Given the description of an element on the screen output the (x, y) to click on. 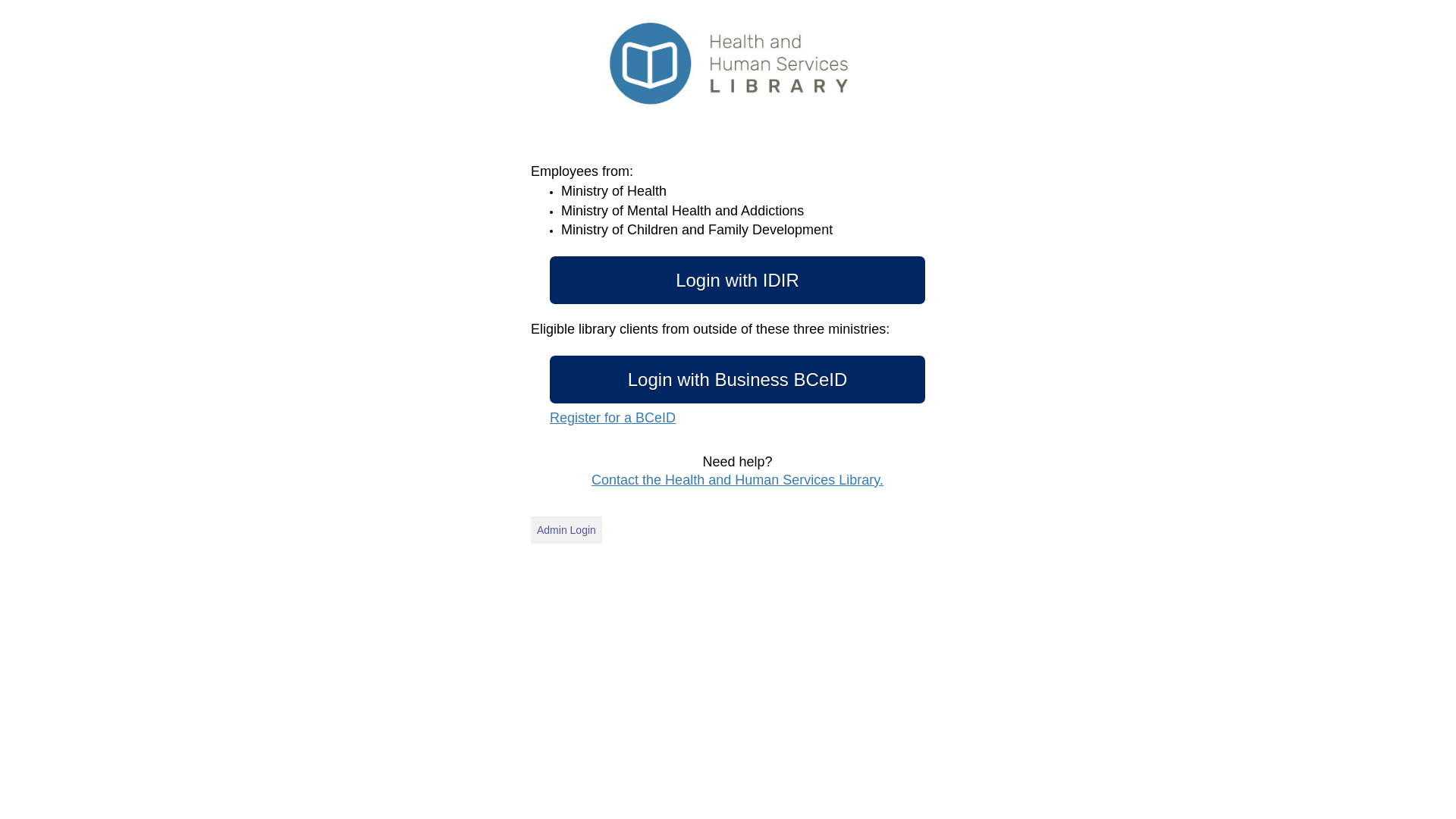
Admin Login Element type: text (566, 529)
Contact the Health and Human Services Library. Element type: text (737, 479)
Register for a BCeID Element type: text (612, 417)
Login with Business BCeID Element type: text (737, 379)
Login with IDIR Element type: text (737, 280)
